Given the description of an element on the screen output the (x, y) to click on. 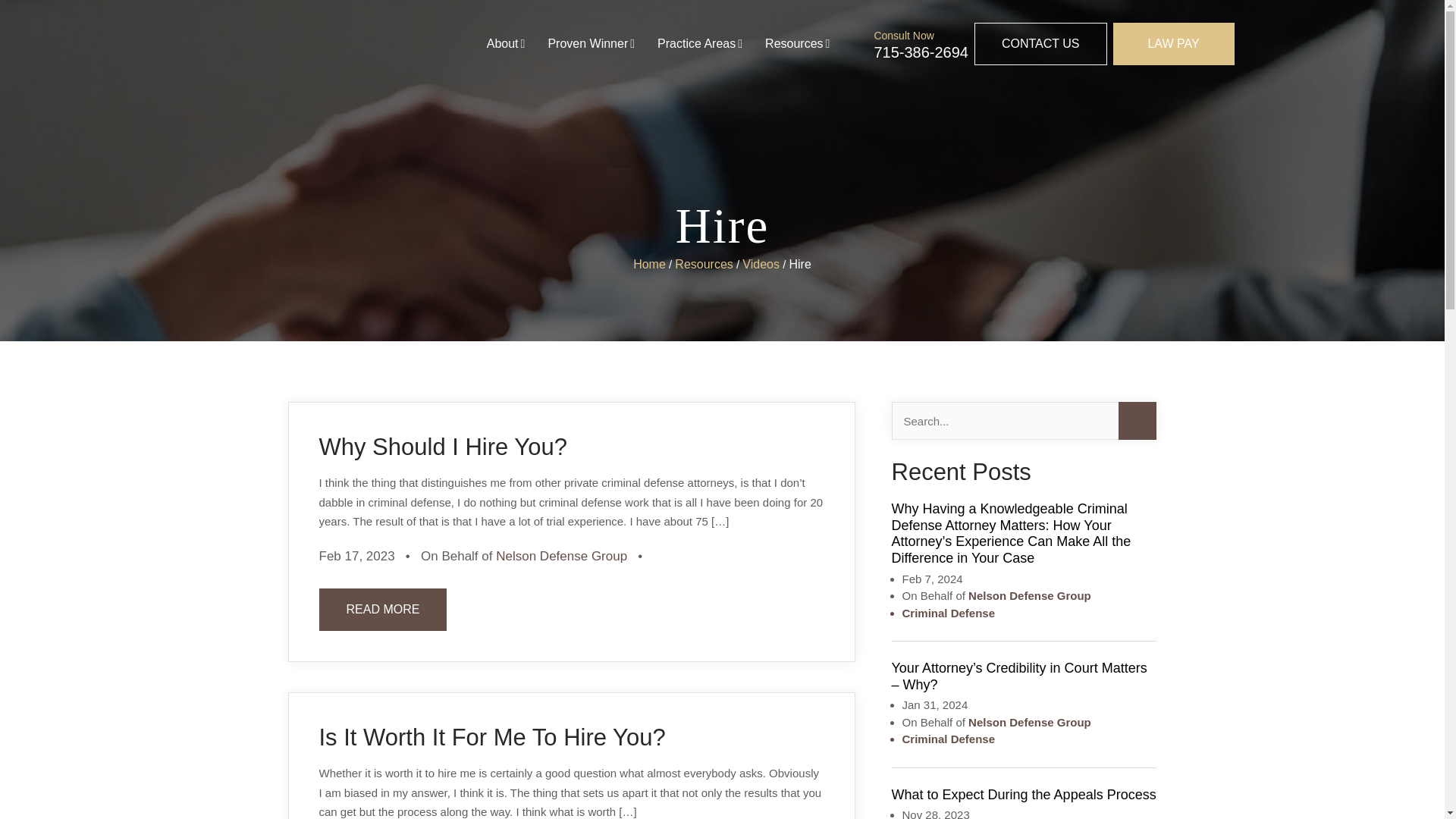
Go to Resources. (703, 264)
Resources (703, 264)
Resources (797, 43)
Go to Videos. (760, 264)
LAW PAY (1173, 43)
Go to Nelson Defense Group. (649, 264)
Proven Winner (590, 43)
Practice Areas (700, 43)
CONTACT US (1040, 43)
Videos (760, 264)
715-386-2694 (920, 52)
Home (649, 264)
